Given the description of an element on the screen output the (x, y) to click on. 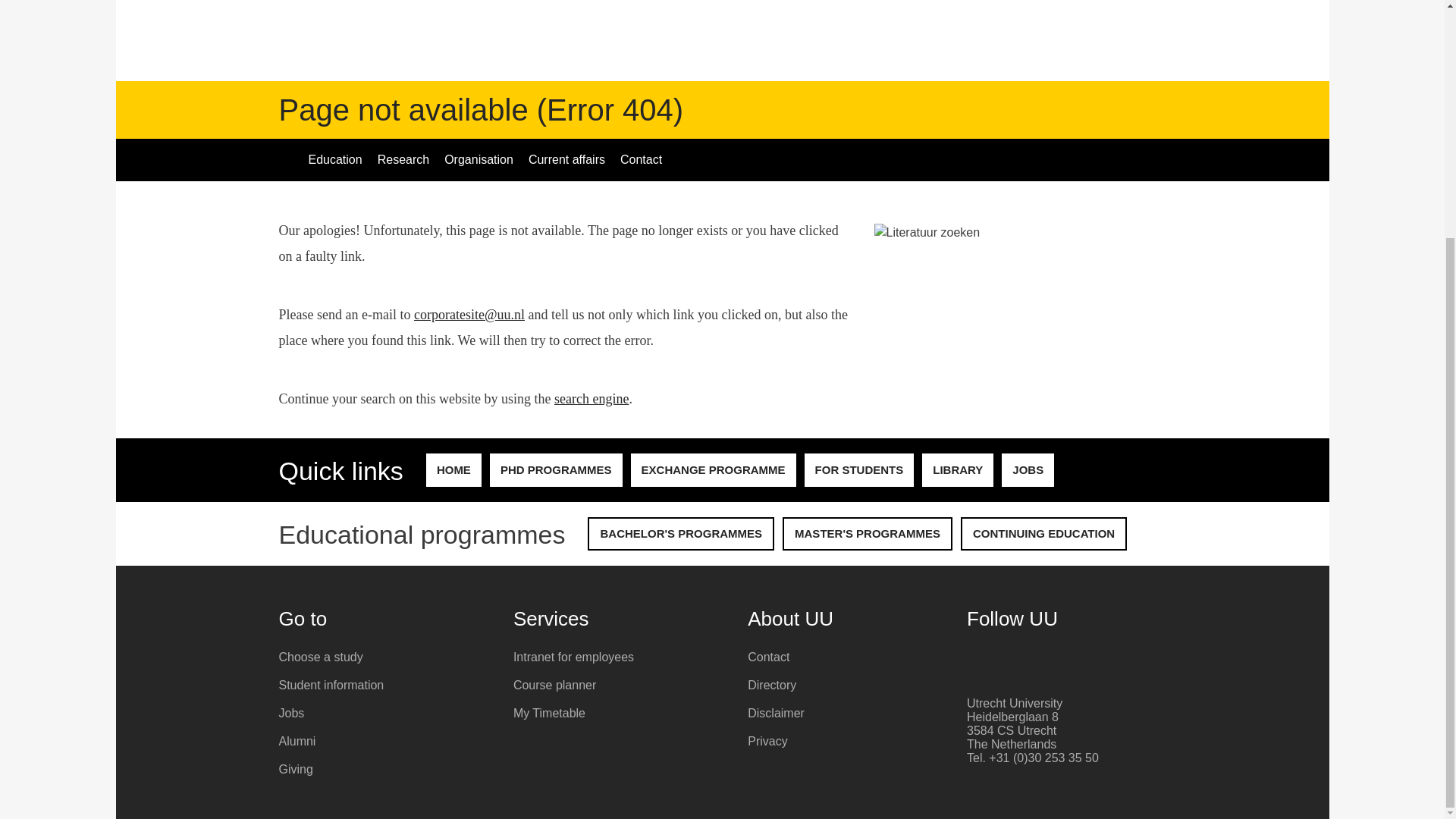
Student information (384, 685)
HOME (453, 469)
Course planner (619, 685)
Organisation (478, 159)
PHD PROGRAMMES (556, 469)
MASTER'S PROGRAMMES (867, 533)
Giving (384, 769)
Youtube (1002, 659)
Research (402, 159)
Intranet for employees (619, 657)
CONTINUING EDUCATION (1043, 533)
FOR STUDENTS (859, 469)
Current affairs (566, 159)
BACHELOR'S PROGRAMMES (681, 533)
EXCHANGE PROGRAMME (713, 469)
